Given the description of an element on the screen output the (x, y) to click on. 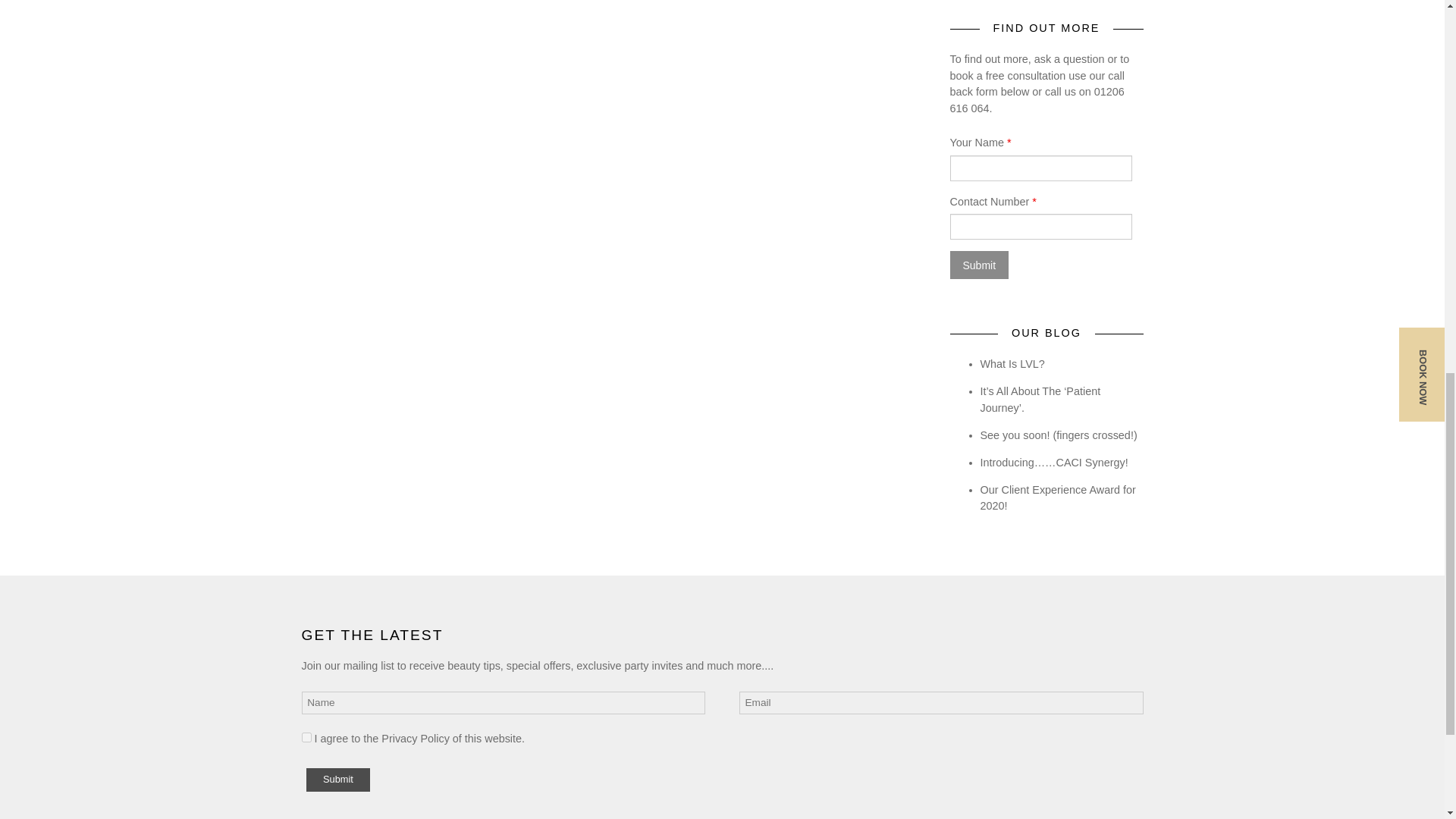
Email (940, 702)
1 (306, 737)
Submit (979, 264)
Submit (337, 780)
Name (503, 702)
